Given the description of an element on the screen output the (x, y) to click on. 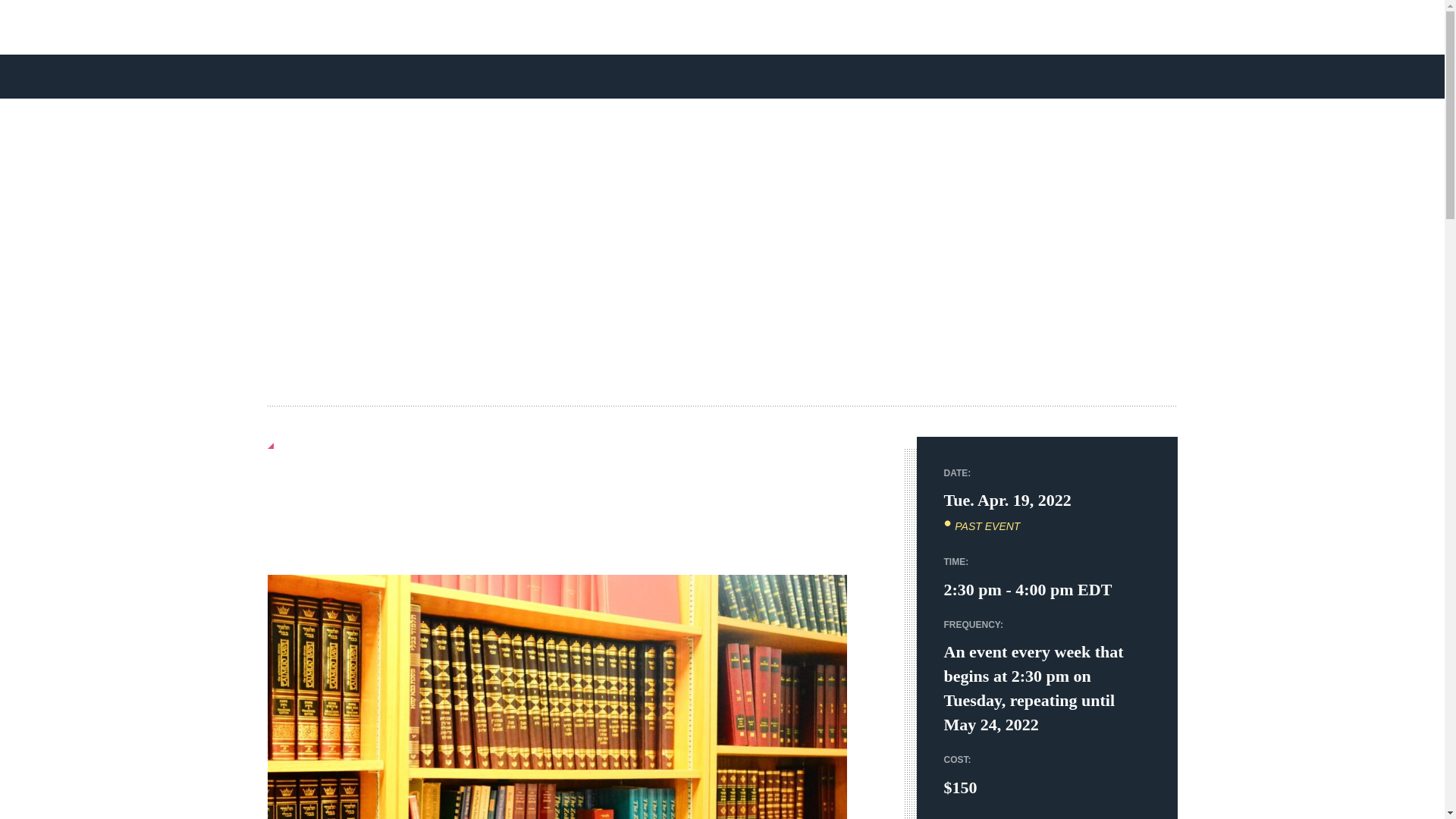
2022-04-19 (1046, 589)
2022-04-19 (1006, 499)
